Given the description of an element on the screen output the (x, y) to click on. 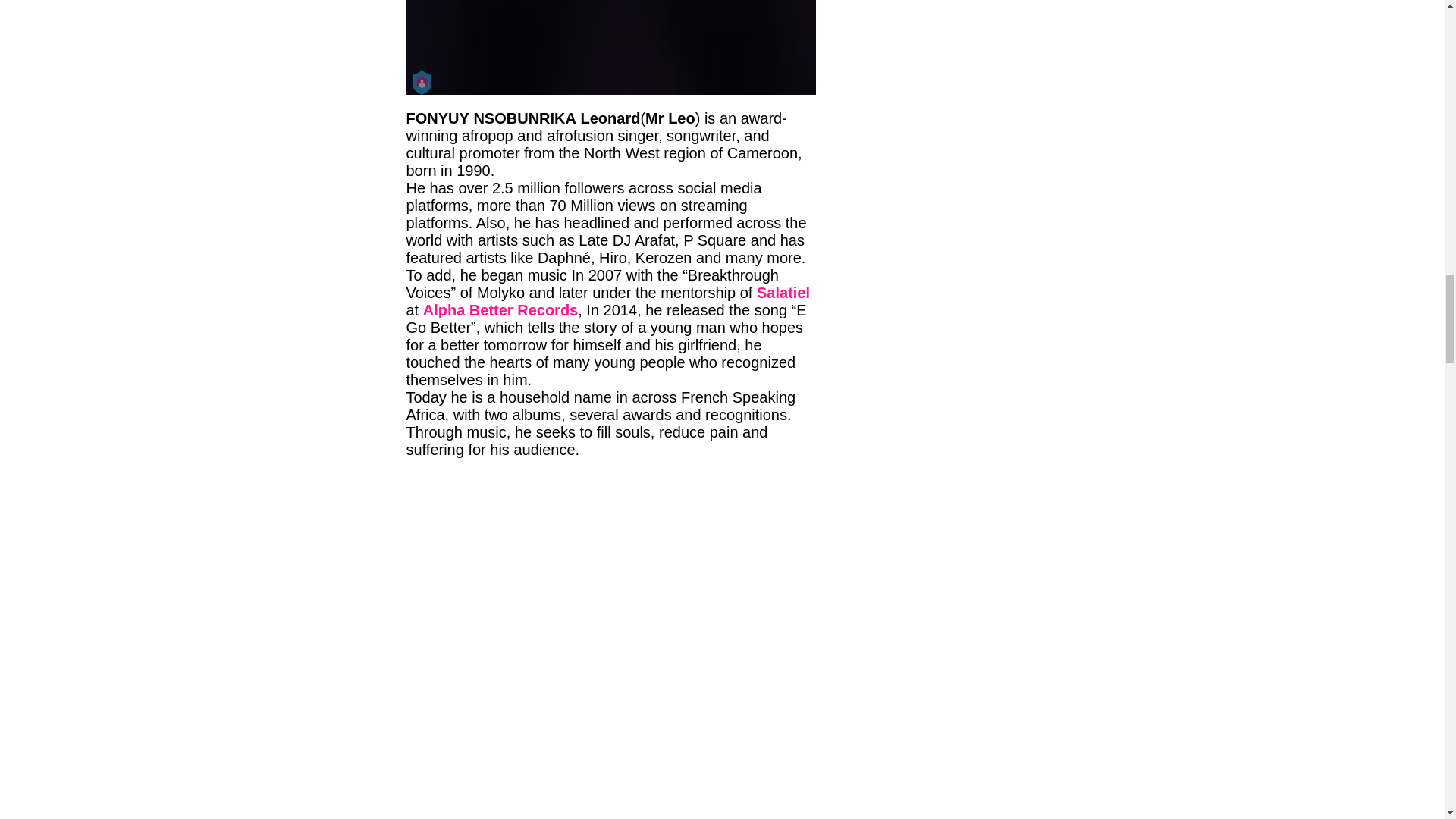
Mr Leo - Dear Love (610, 47)
